Given the description of an element on the screen output the (x, y) to click on. 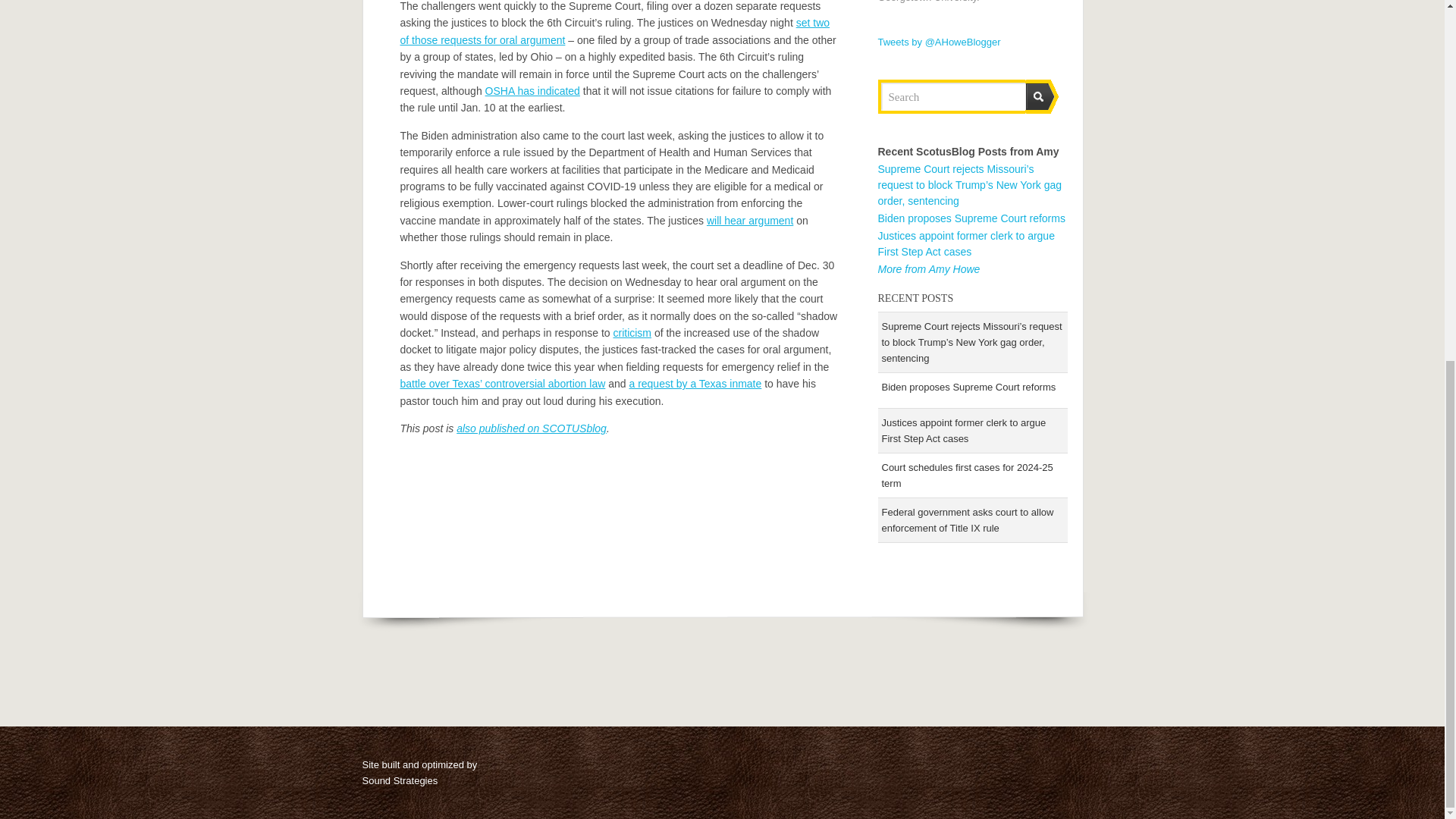
also published on SCOTUSblog (532, 428)
Justices appoint former clerk to argue First Step Act cases  (965, 243)
will hear argument (749, 220)
set two of those requests for oral argument (614, 30)
Justices appoint former clerk to argue First Step Act cases  (962, 430)
Biden proposes Supreme Court reforms (967, 387)
Court schedules first cases for 2024-25 term (966, 474)
a request by a Texas inmate (694, 383)
OSHA has indicated (531, 91)
criticism (631, 332)
Submit (1042, 96)
Sound Strategies (400, 780)
